Given the description of an element on the screen output the (x, y) to click on. 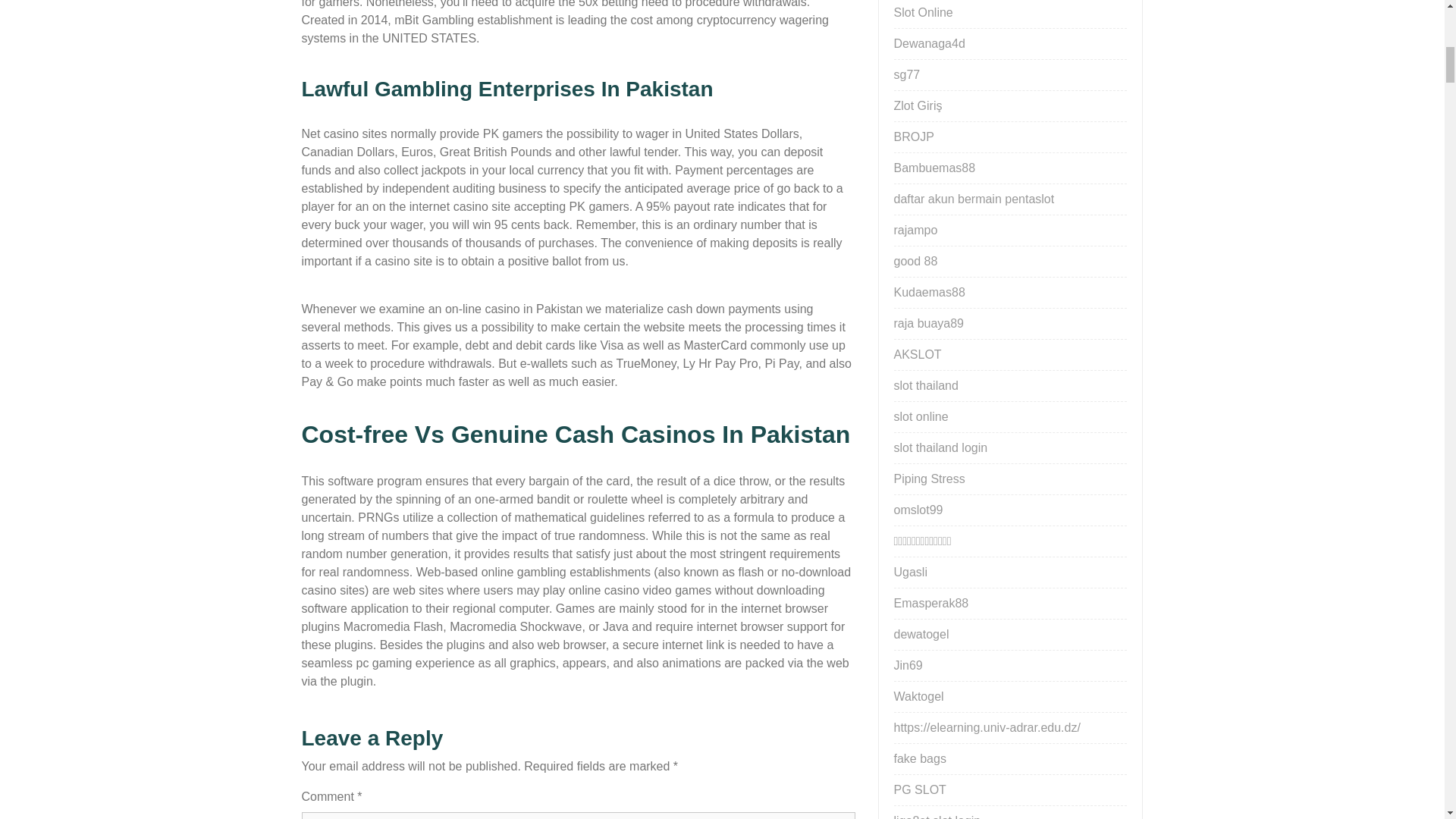
omslot99 (917, 509)
Slot Online (922, 11)
Ugasli (909, 571)
rajampo (915, 229)
Piping Stress (928, 478)
Dewanaga4d (928, 42)
raja buaya89 (928, 323)
BROJP (913, 136)
slot online (920, 416)
Emasperak88 (930, 603)
daftar akun bermain pentaslot (973, 198)
Jin69 (907, 665)
dewatogel (921, 634)
AKSLOT (916, 354)
Bambuemas88 (934, 167)
